Given the description of an element on the screen output the (x, y) to click on. 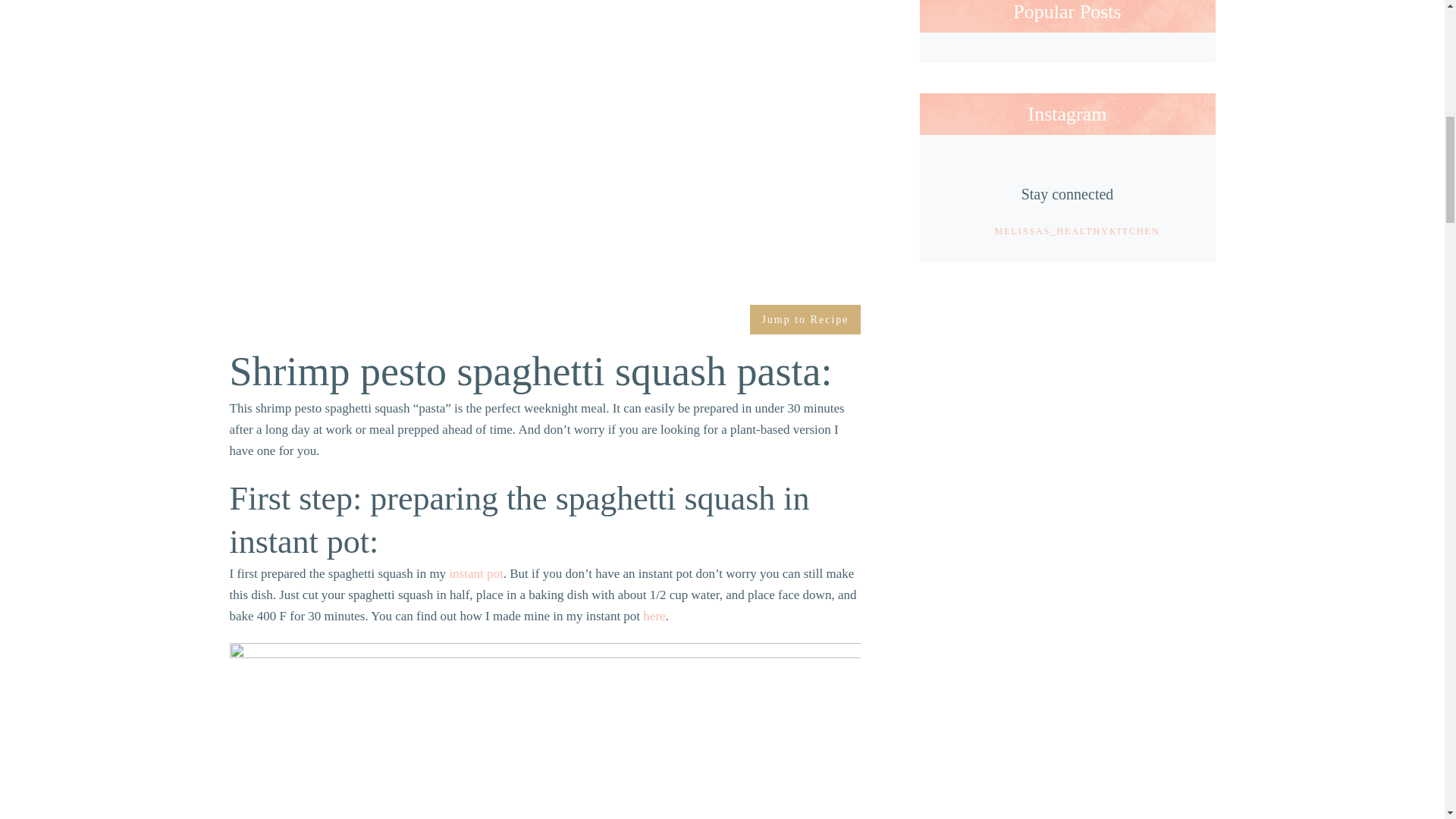
instant pot (474, 573)
here (654, 616)
Jump to Recipe (804, 319)
